Given the description of an element on the screen output the (x, y) to click on. 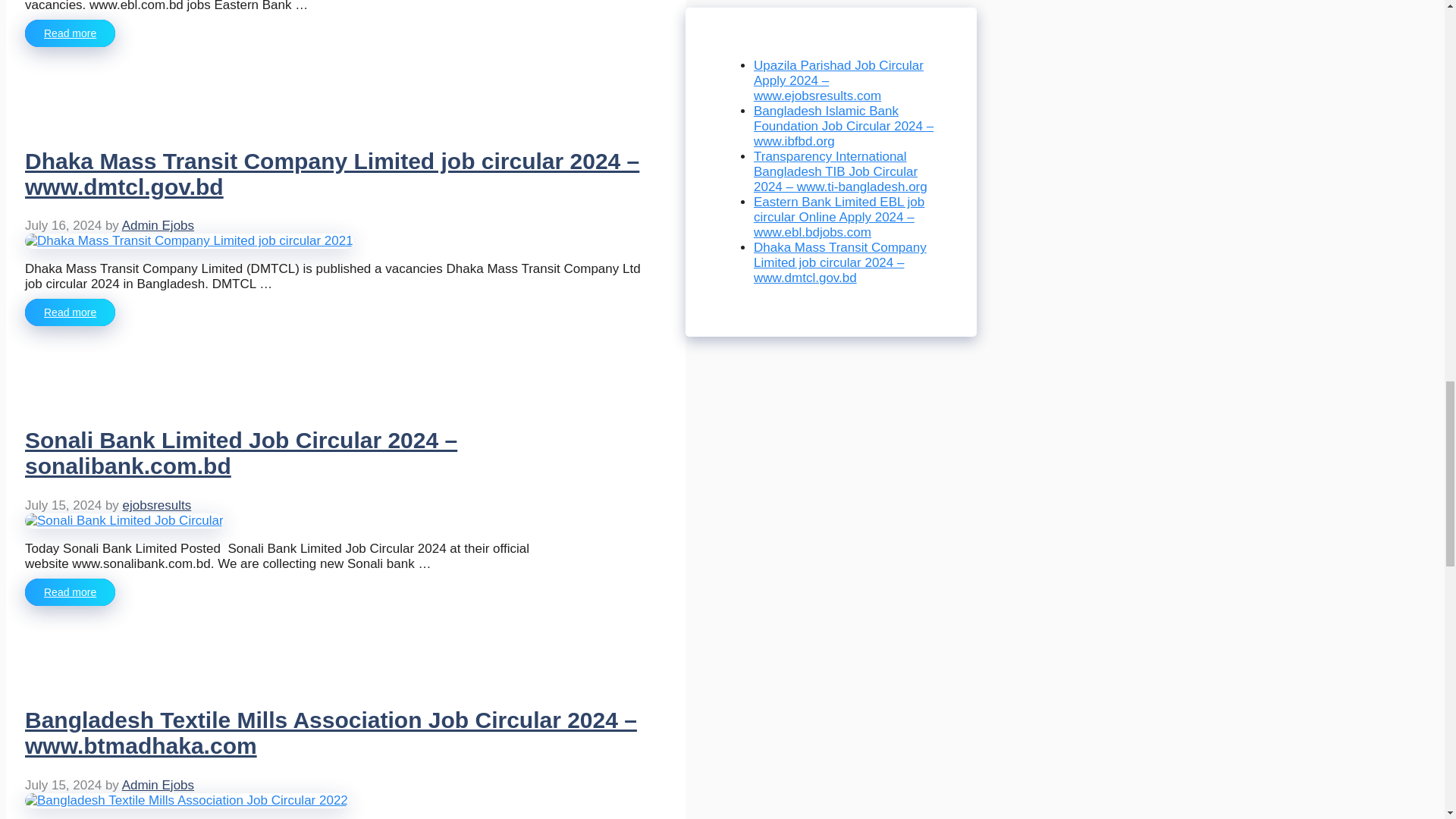
Read more (69, 311)
View all posts by Admin Ejobs (157, 785)
View all posts by Admin Ejobs (157, 225)
View all posts by ejobsresults (157, 504)
Read more (69, 32)
ejobsresults (157, 504)
Admin Ejobs (157, 225)
